Given the description of an element on the screen output the (x, y) to click on. 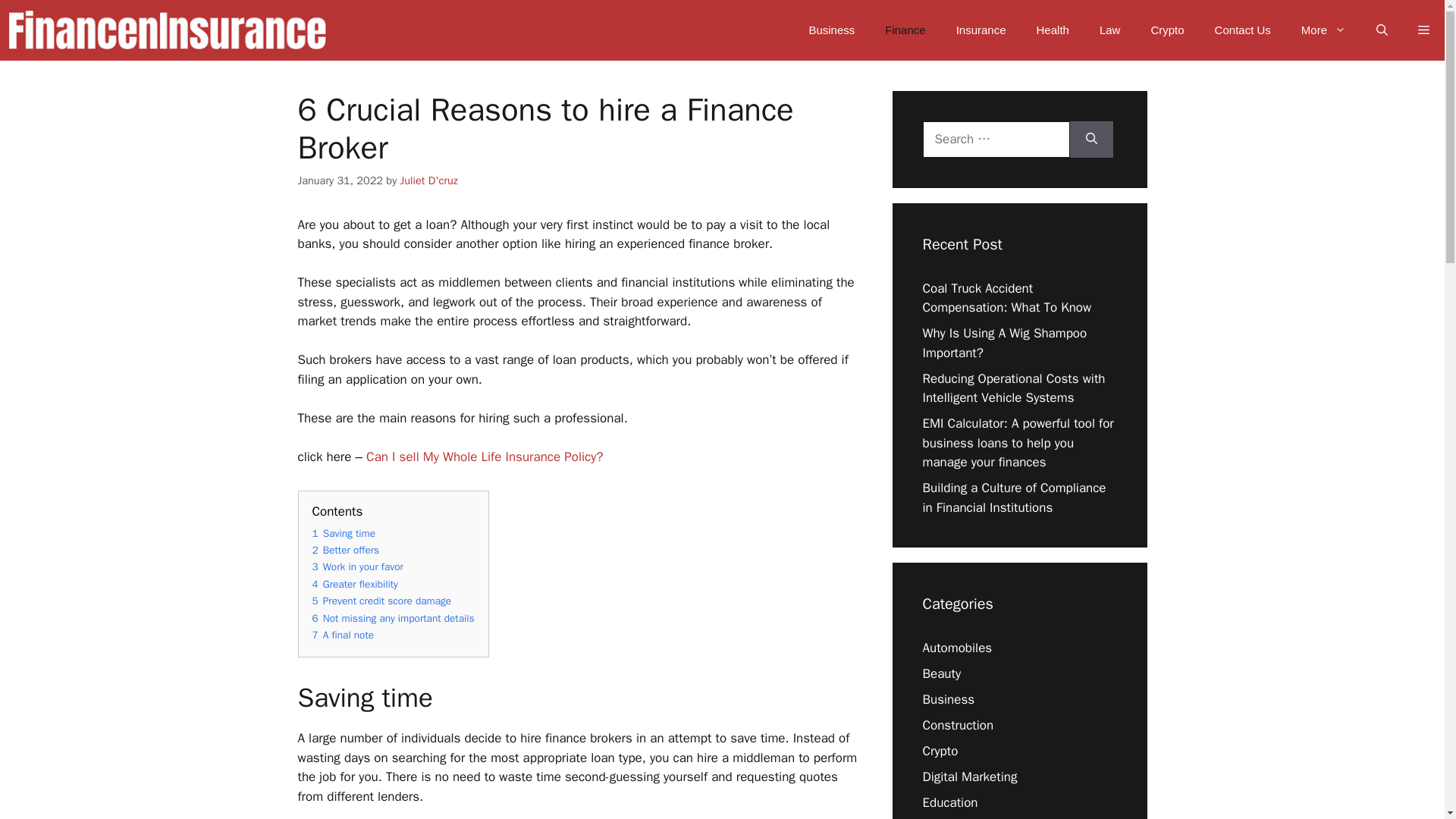
1 Saving time (344, 533)
Health (1053, 30)
Can I sell My Whole Life Insurance Policy? (484, 456)
Insurance (981, 30)
Search for: (994, 139)
Law (1109, 30)
Finance (904, 30)
5 Prevent credit score damage (382, 600)
More (1323, 30)
